Given the description of an element on the screen output the (x, y) to click on. 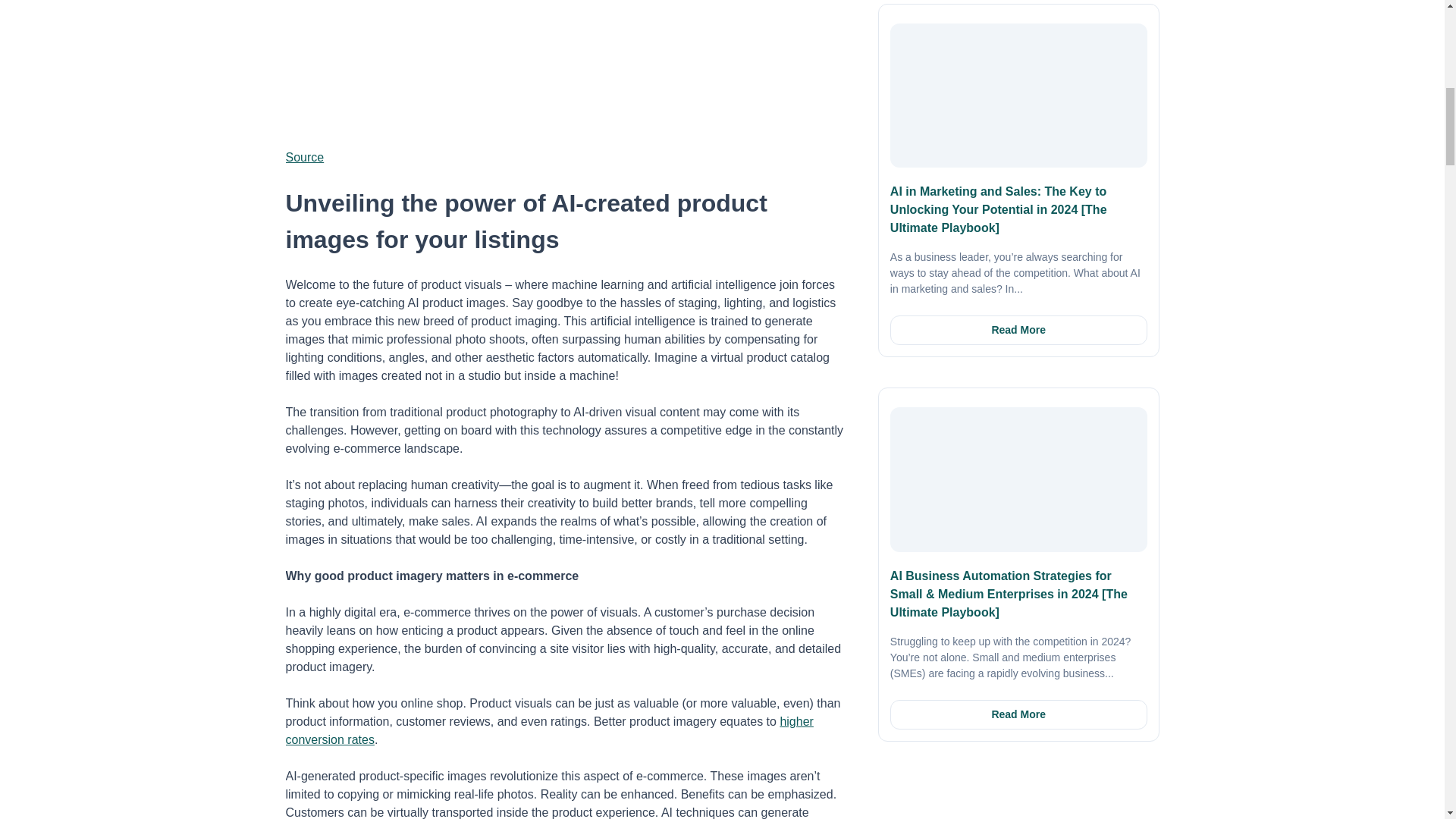
Read More (1018, 329)
Source (304, 156)
higher conversion rates (548, 730)
